Given the description of an element on the screen output the (x, y) to click on. 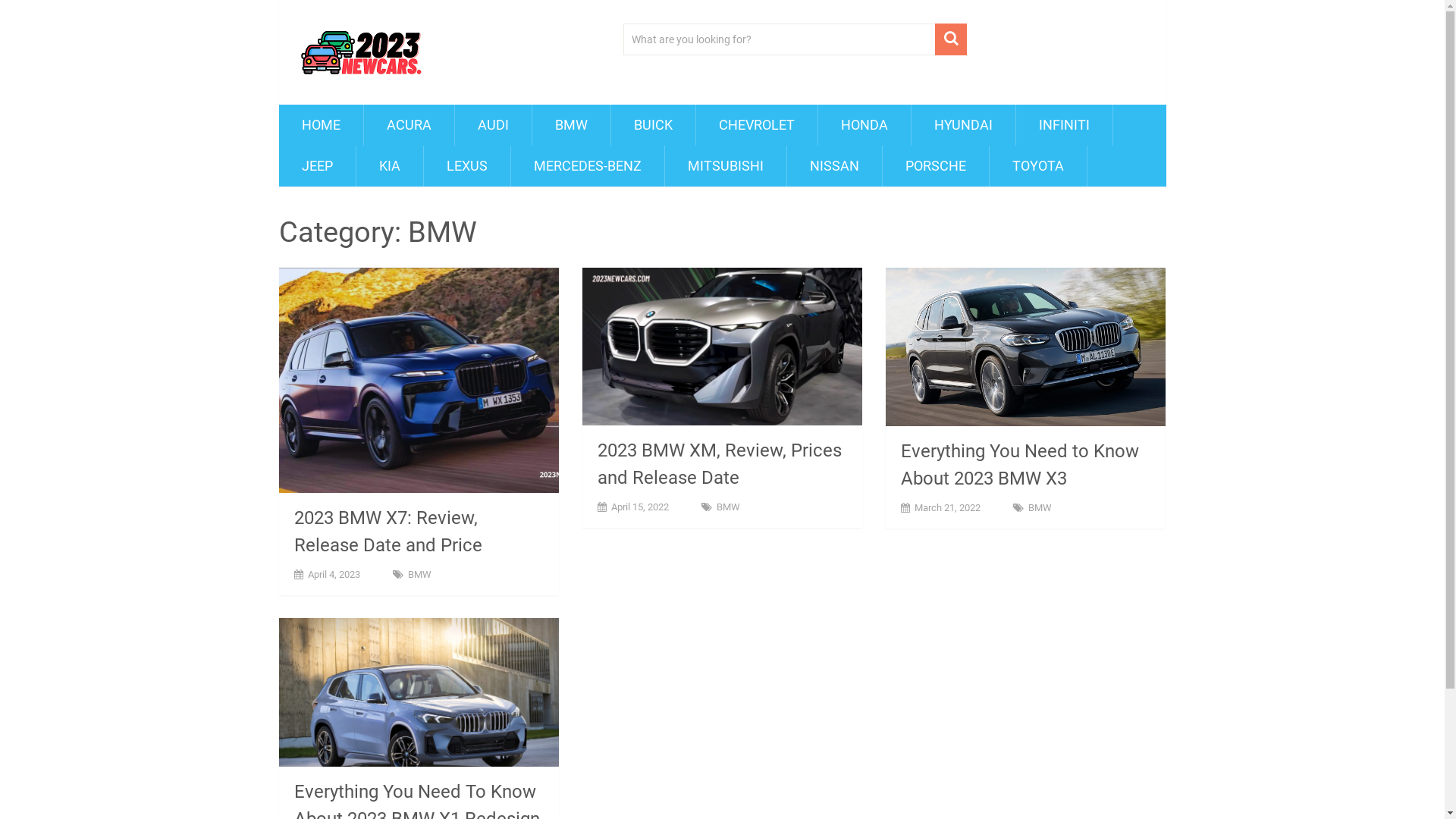
BMW Element type: text (571, 124)
AUDI Element type: text (493, 124)
HOME Element type: text (321, 124)
ACURA Element type: text (409, 124)
BMW Element type: text (1039, 507)
LEXUS Element type: text (466, 165)
HONDA Element type: text (863, 124)
MITSUBISHI Element type: text (724, 165)
MERCEDES-BENZ Element type: text (587, 165)
HYUNDAI Element type: text (963, 124)
KIA Element type: text (389, 165)
TOYOTA Element type: text (1036, 165)
2023 BMW X7: Review, Release Date and Price Element type: text (388, 531)
BMW Element type: text (419, 574)
PORSCHE Element type: text (935, 165)
BUICK Element type: text (653, 124)
INFINITI Element type: text (1064, 124)
JEEP Element type: text (317, 165)
2023 BMW XM, Review, Prices and Release Date Element type: text (719, 463)
BMW Element type: text (728, 506)
NISSAN Element type: text (834, 165)
CHEVROLET Element type: text (756, 124)
Everything You Need to Know About 2023 BMW X3 Element type: text (1019, 464)
